Given the description of an element on the screen output the (x, y) to click on. 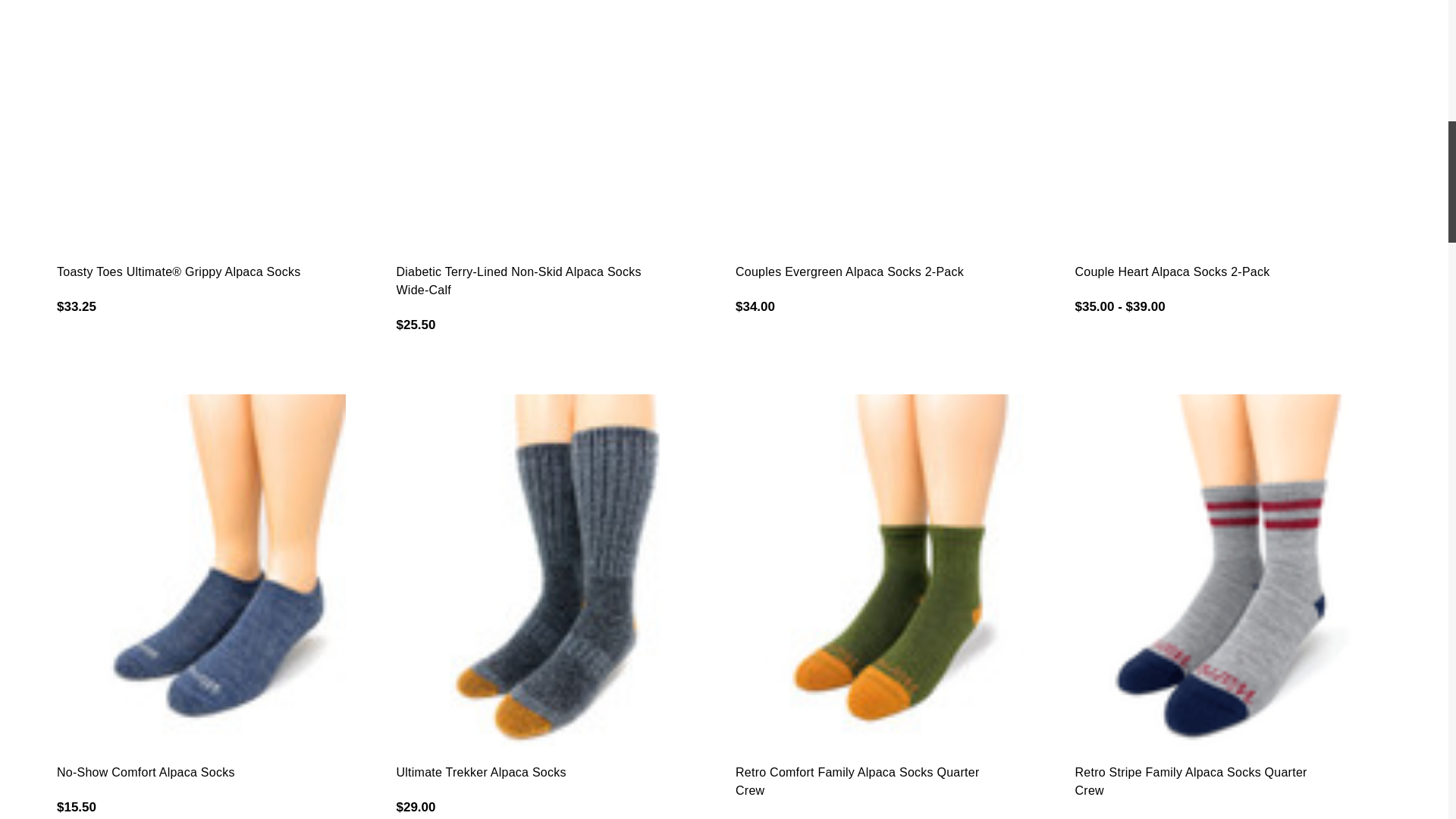
Cozy Evergreen Alpaca Socks for Couples (893, 122)
Perfect Pairs: Alpaca Socks for Couples - Found Hearts (1233, 122)
